Given the description of an element on the screen output the (x, y) to click on. 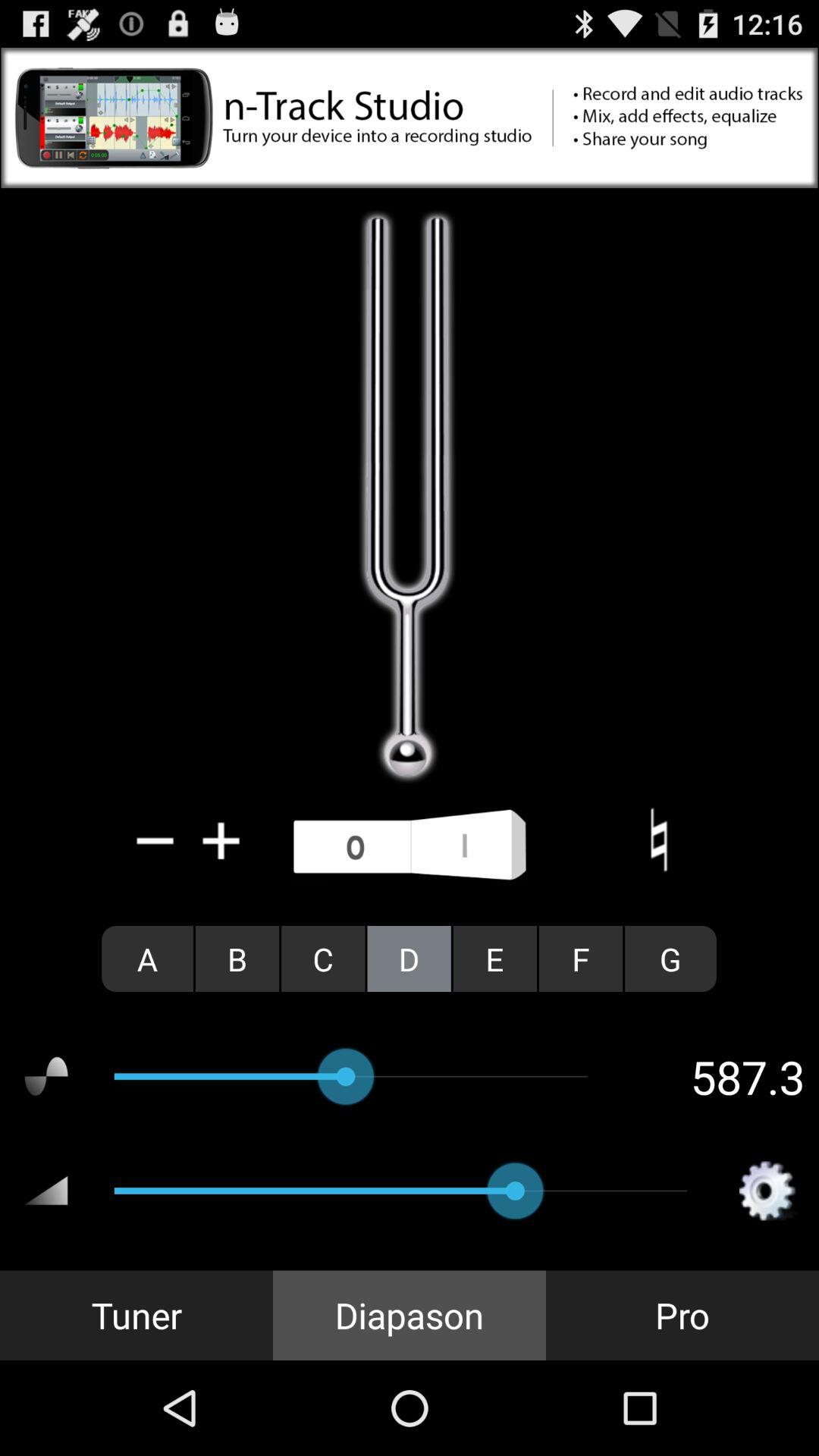
play the note (658, 840)
